Given the description of an element on the screen output the (x, y) to click on. 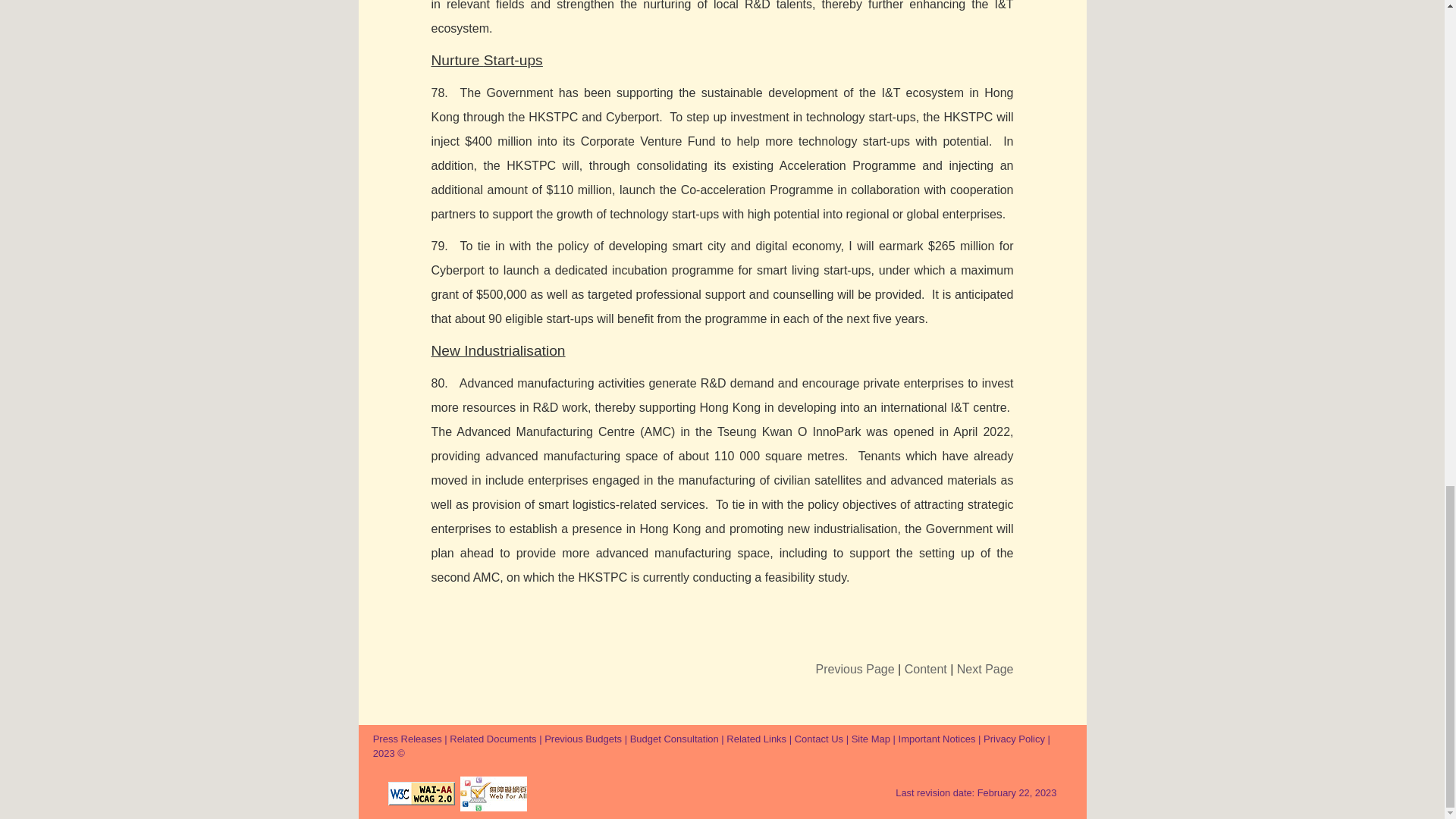
Previous Page (855, 668)
Budget Consultation (674, 738)
Web Accessibility Recognition Scheme (493, 793)
Next Page (984, 668)
Press Releases (407, 738)
Content (925, 668)
Related Documents (492, 738)
Previous Budgets (582, 738)
